Given the description of an element on the screen output the (x, y) to click on. 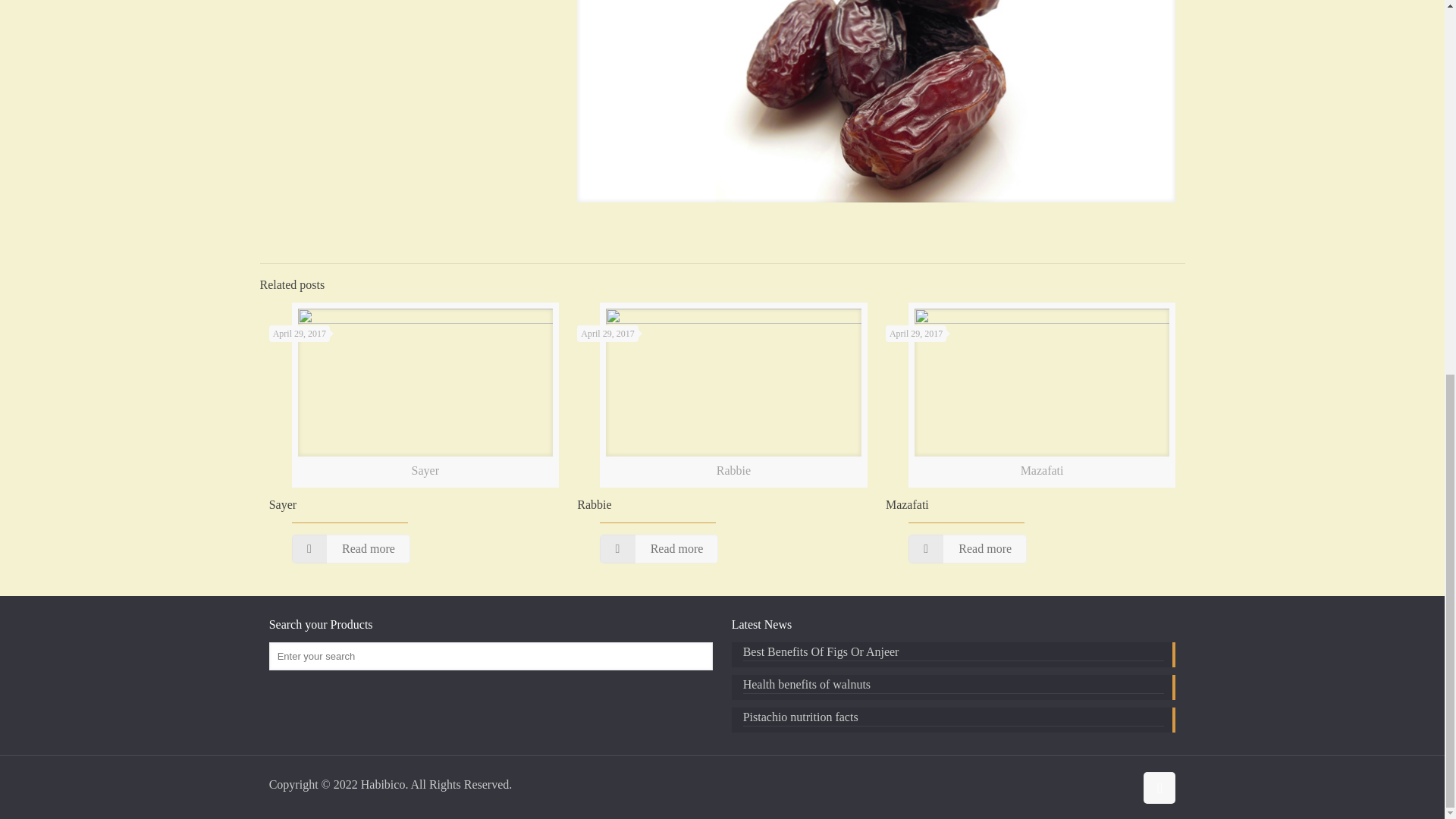
Read more (658, 548)
piarom (875, 106)
Rabbie (593, 504)
Best Benefits Of Figs Or Anjeer (953, 653)
Read more (967, 548)
Mazafati (906, 504)
Pistachio nutrition facts (953, 718)
Sayer (283, 504)
Read more (351, 548)
Health benefits of walnuts (953, 685)
